Given the description of an element on the screen output the (x, y) to click on. 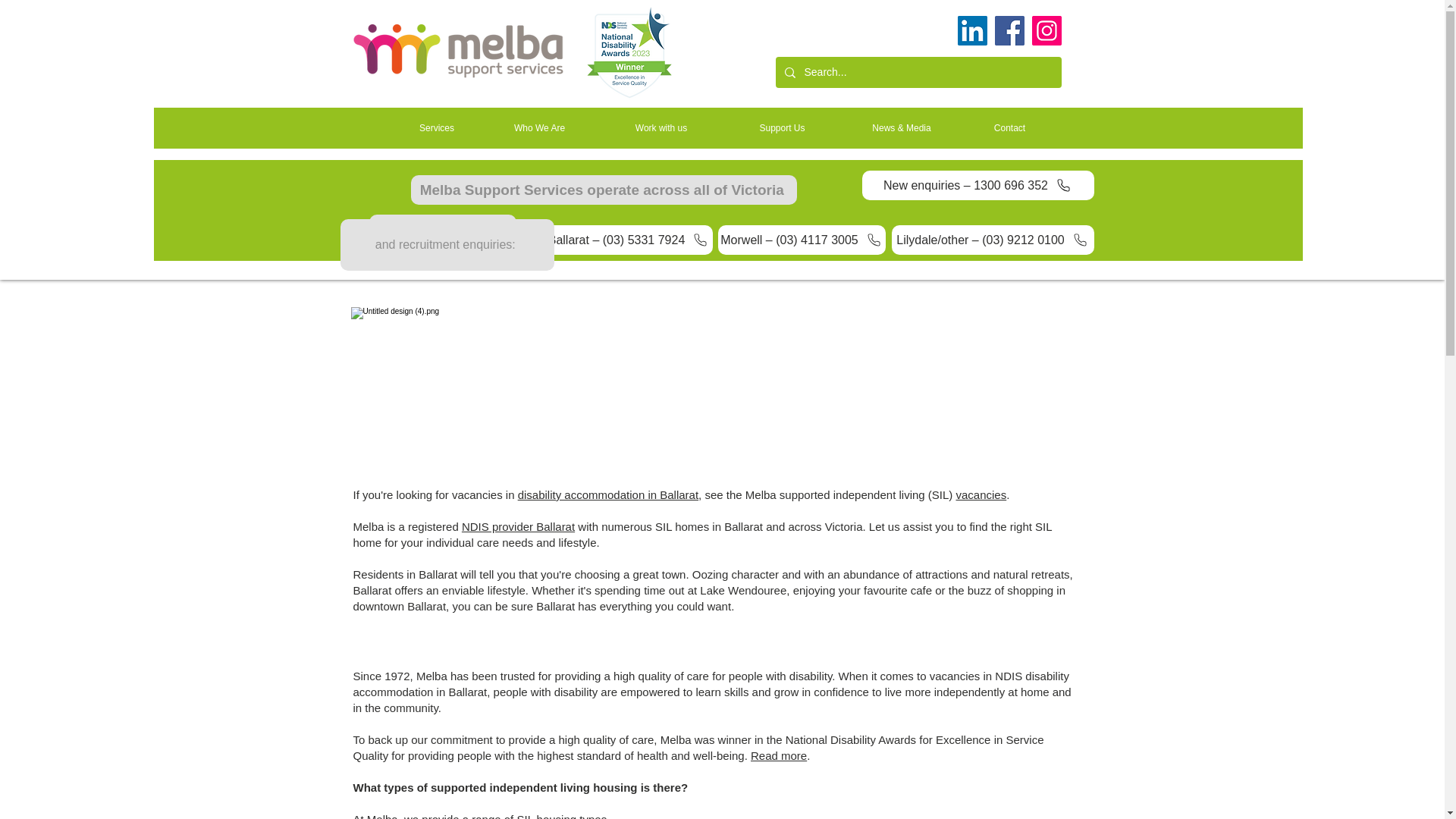
Work with us (660, 128)
Contact (1008, 128)
Services (437, 128)
